Given the description of an element on the screen output the (x, y) to click on. 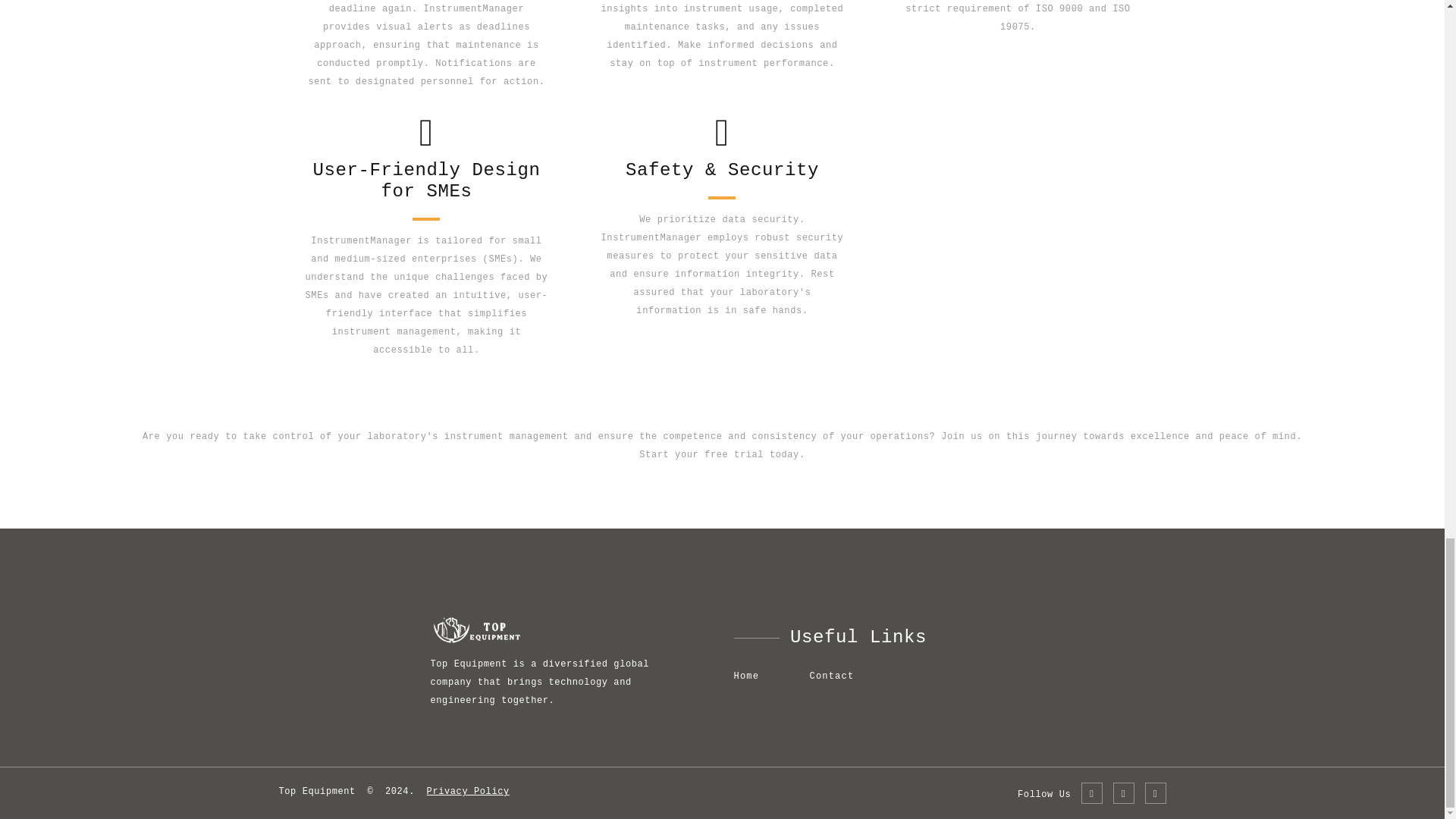
Privacy Policy (467, 791)
Home (746, 675)
Contact (831, 675)
